Given the description of an element on the screen output the (x, y) to click on. 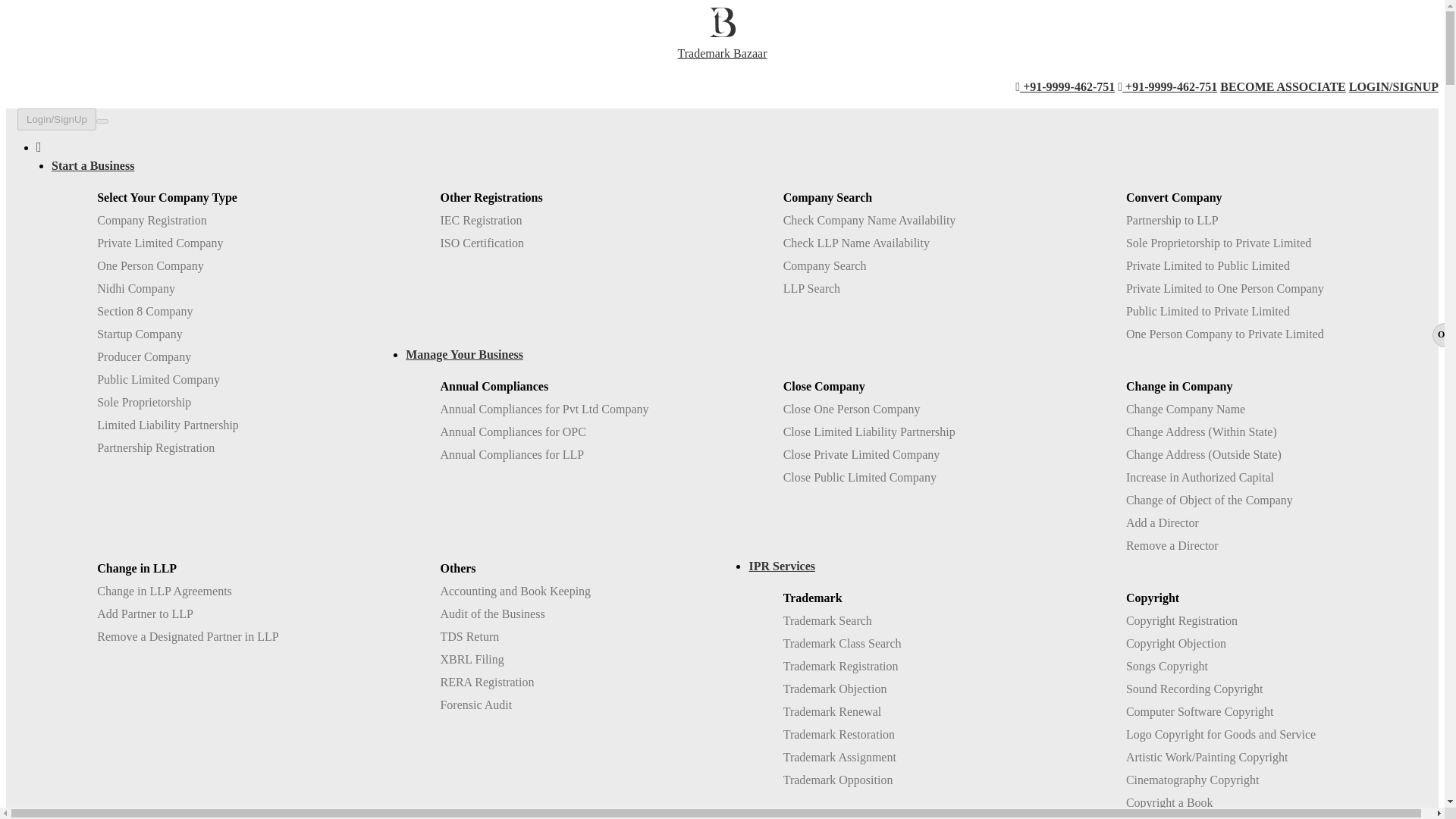
ISO Certification (481, 242)
Annual Compliances for OPC (512, 431)
Close One Person Company (851, 408)
Section 8 Company (144, 310)
Private Limited to Public Limited (1207, 265)
Trademark Bazaar (722, 43)
Nidhi Company (135, 287)
Sole Proprietorship to Private Limited (1218, 242)
Check Company Name Availability (869, 219)
Sole Proprietorship (143, 401)
Annual Compliances for Pvt Ltd Company (543, 408)
Check LLP Name Availability (856, 242)
Company Search (824, 265)
One Person Company (150, 265)
Partnership to LLP (1171, 219)
